Given the description of an element on the screen output the (x, y) to click on. 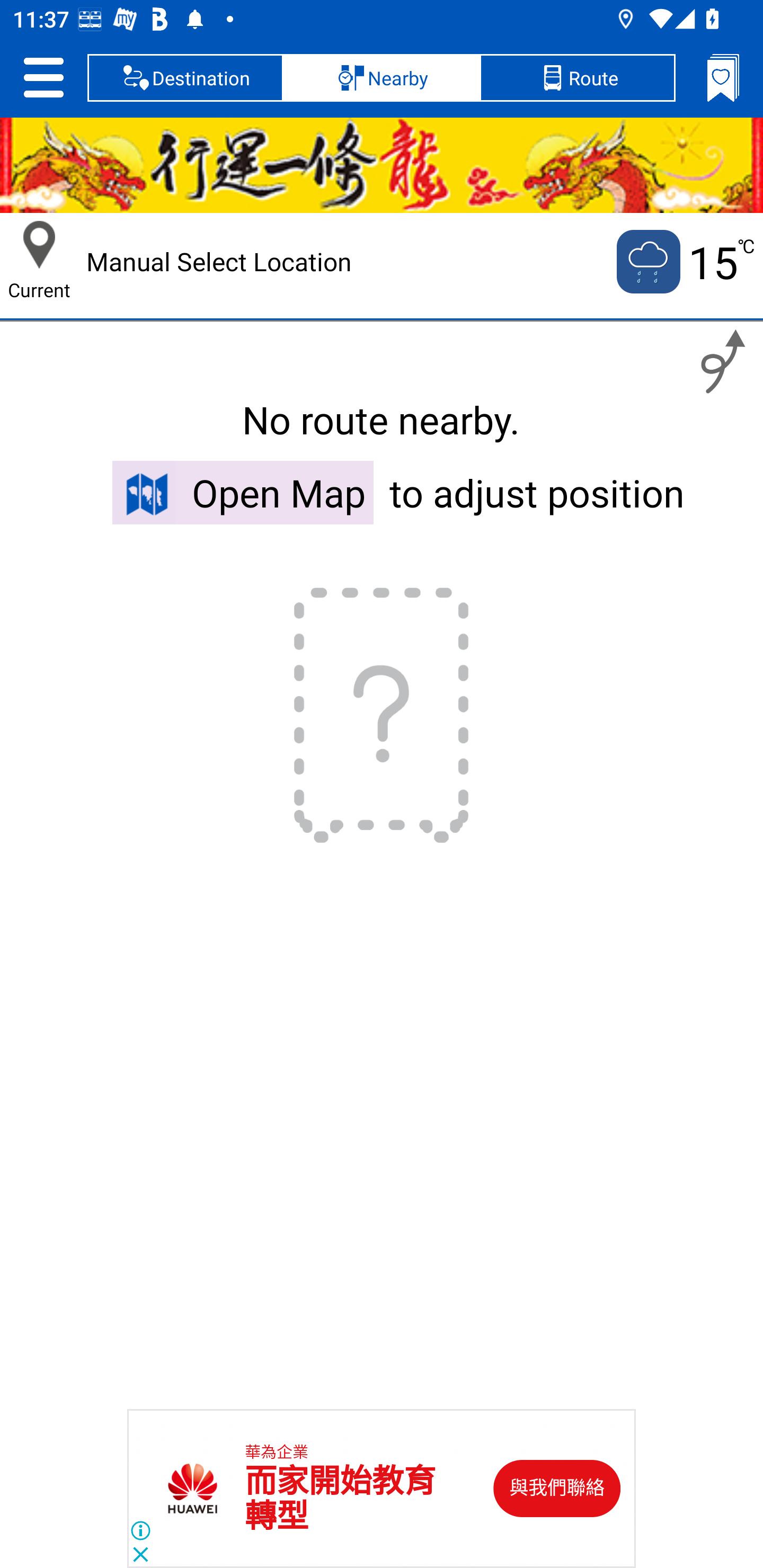
Destination (185, 77)
Nearby, selected (381, 77)
Route (577, 77)
Bookmarks (723, 77)
Setting (43, 77)
Lunar New Year 2024 (381, 165)
Current Location (38, 244)
Current temputure is  15  no 15 ℃ (684, 261)
Open Map (242, 491)
華為企業 (276, 1452)
與我們聯絡 (556, 1488)
而家開始教育 轉型 而家開始教育 轉型 (339, 1498)
